Given the description of an element on the screen output the (x, y) to click on. 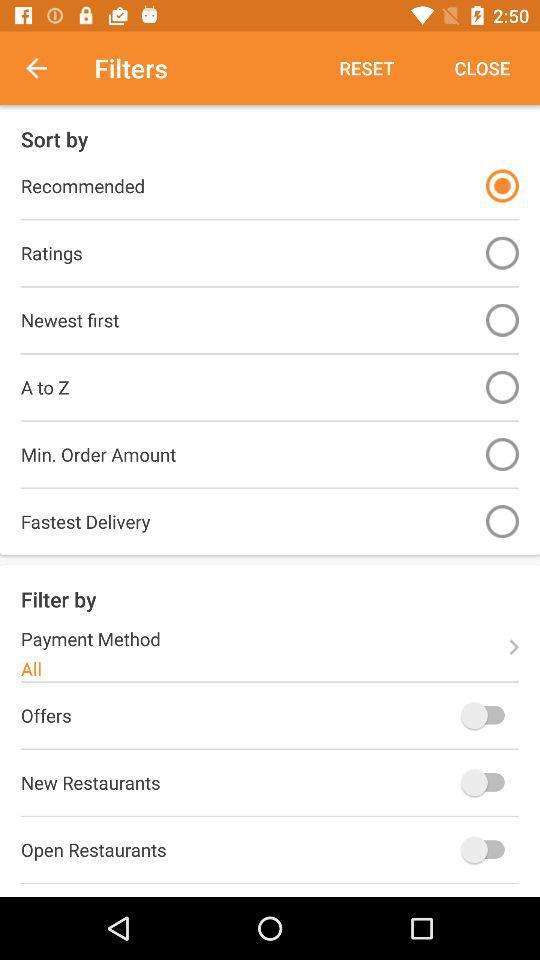
launch item to the left of filters item (47, 68)
